Given the description of an element on the screen output the (x, y) to click on. 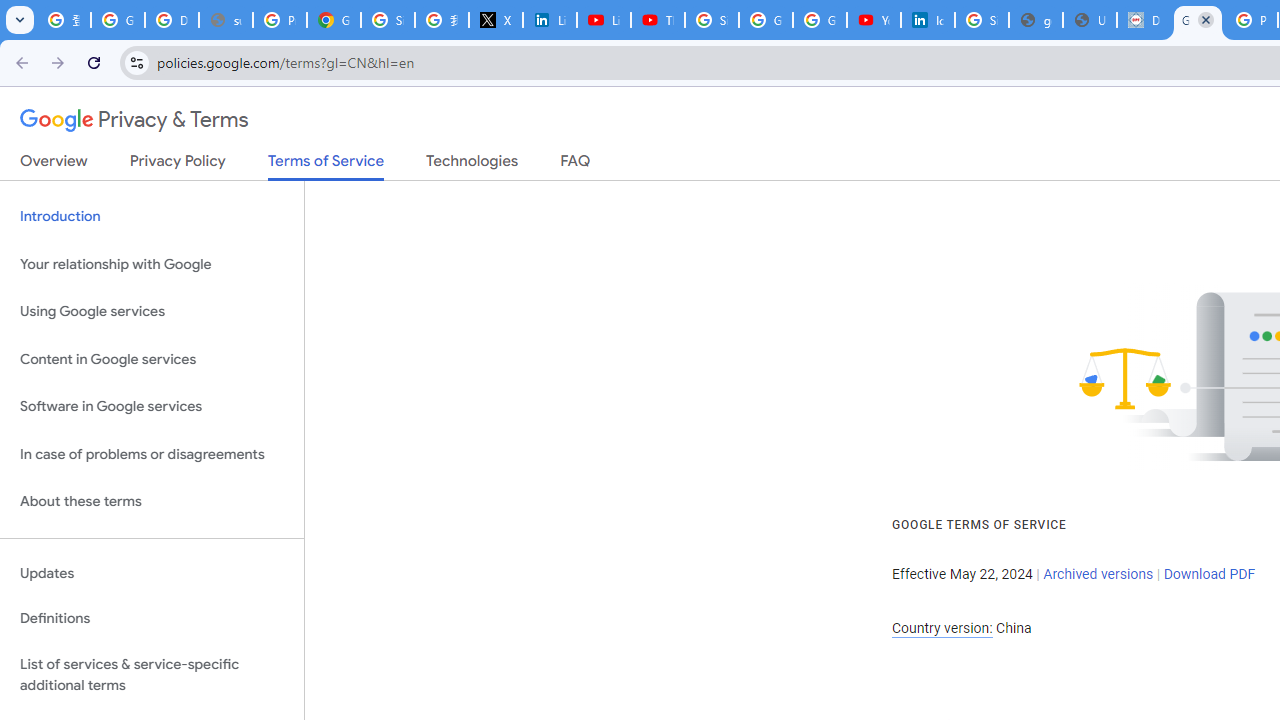
X (495, 20)
google_privacy_policy_en.pdf (1035, 20)
Using Google services (152, 312)
In case of problems or disagreements (152, 453)
Sign in - Google Accounts (387, 20)
